Given the description of an element on the screen output the (x, y) to click on. 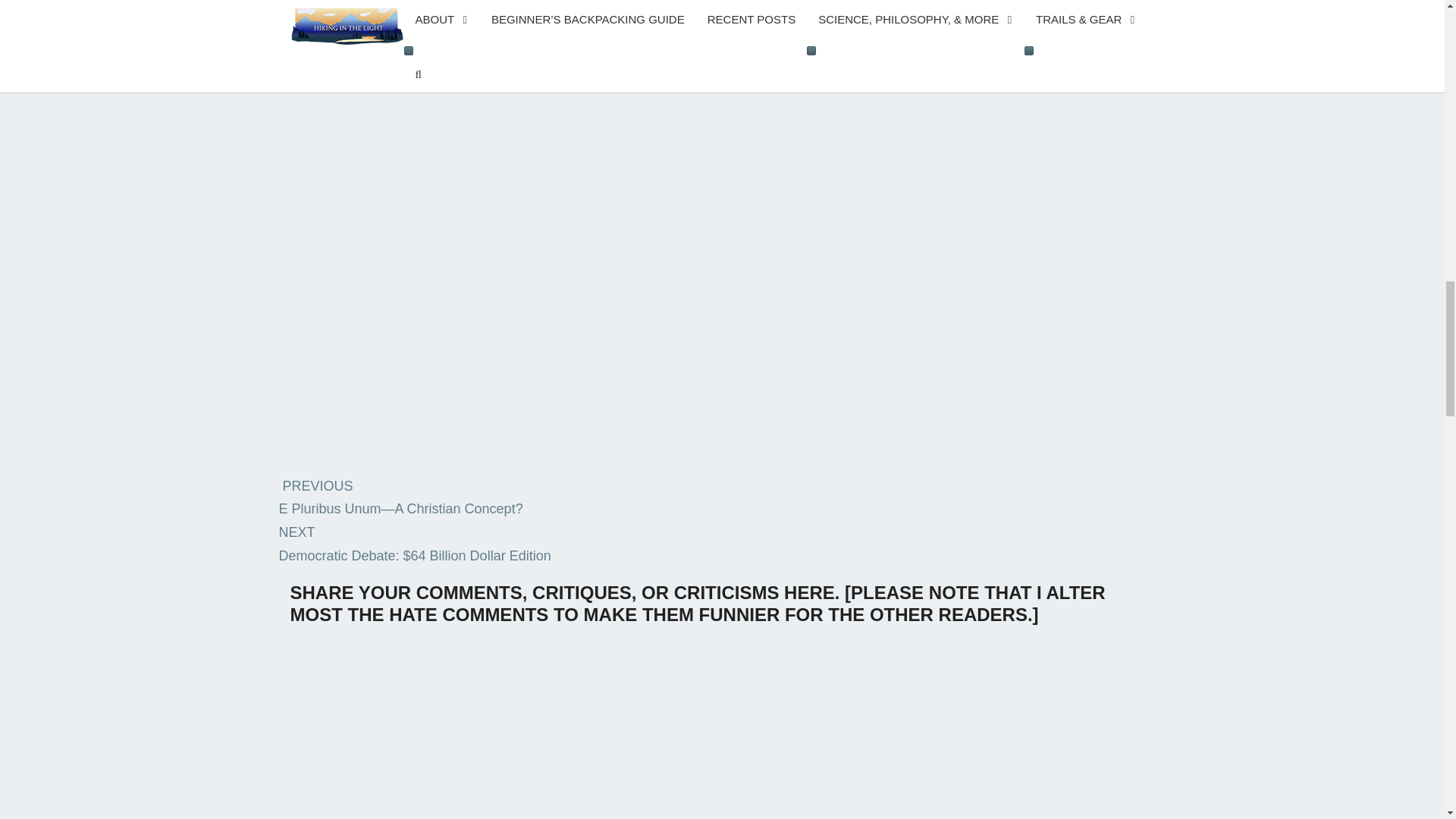
the four loves (323, 1)
